Given the description of an element on the screen output the (x, y) to click on. 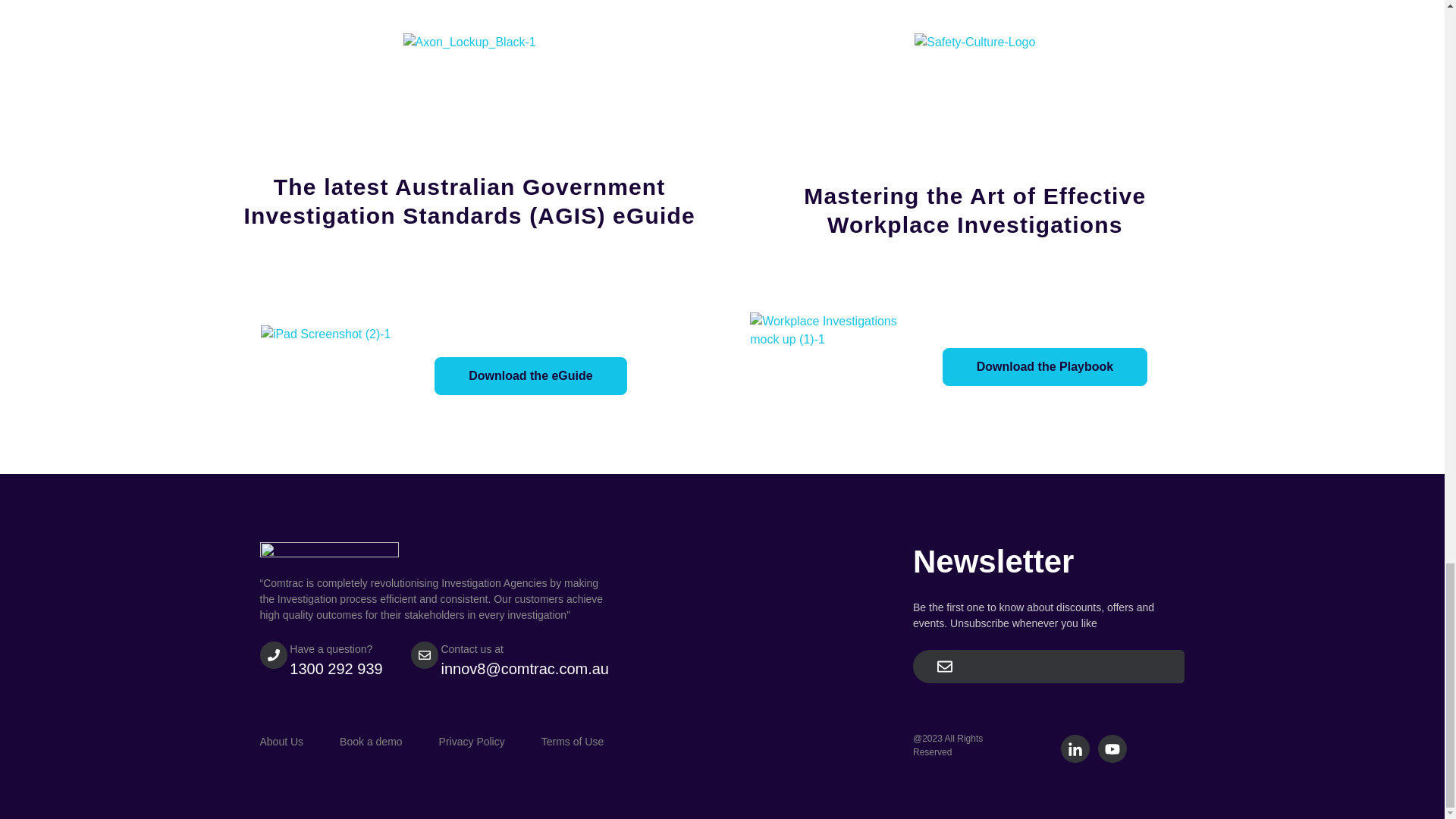
Safety-Culture-Logo (974, 42)
Follow us on Facebook (1112, 749)
Book a demo (389, 741)
1300 292 939 (335, 668)
Privacy Policy (490, 741)
Download the eGuide (530, 375)
Have a question? (330, 648)
About Us (299, 741)
Download the Playbook (1044, 366)
Terms of Use (590, 741)
